Given the description of an element on the screen output the (x, y) to click on. 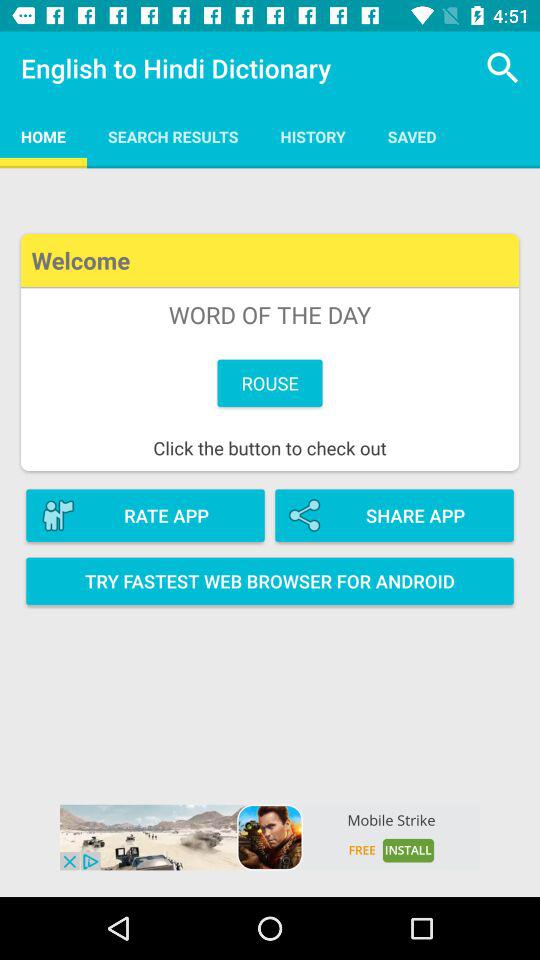
opens the advertisement (270, 837)
